Given the description of an element on the screen output the (x, y) to click on. 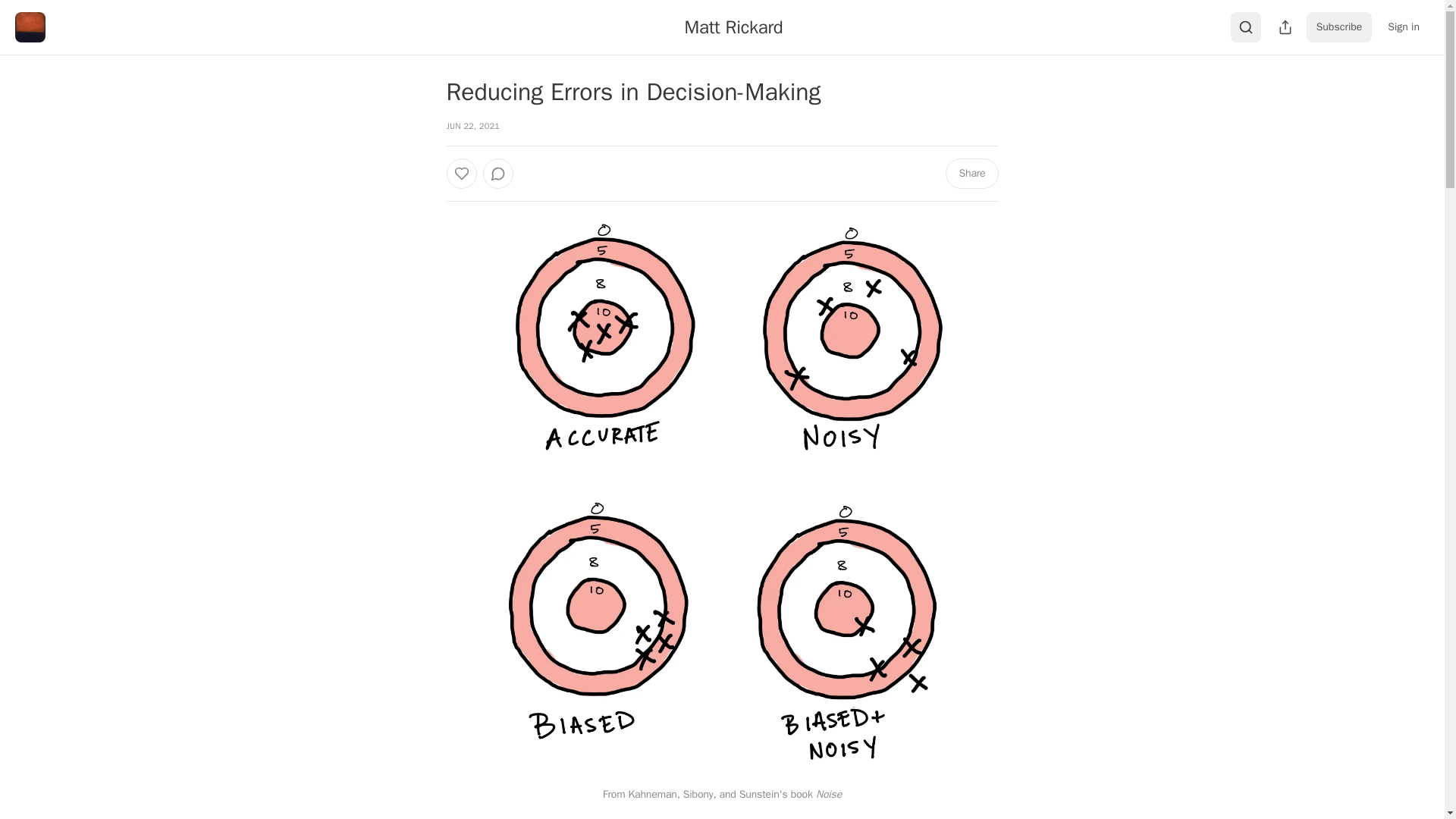
Matt Rickard (733, 26)
Sign in (1403, 27)
Share (970, 173)
Subscribe (1339, 27)
